Given the description of an element on the screen output the (x, y) to click on. 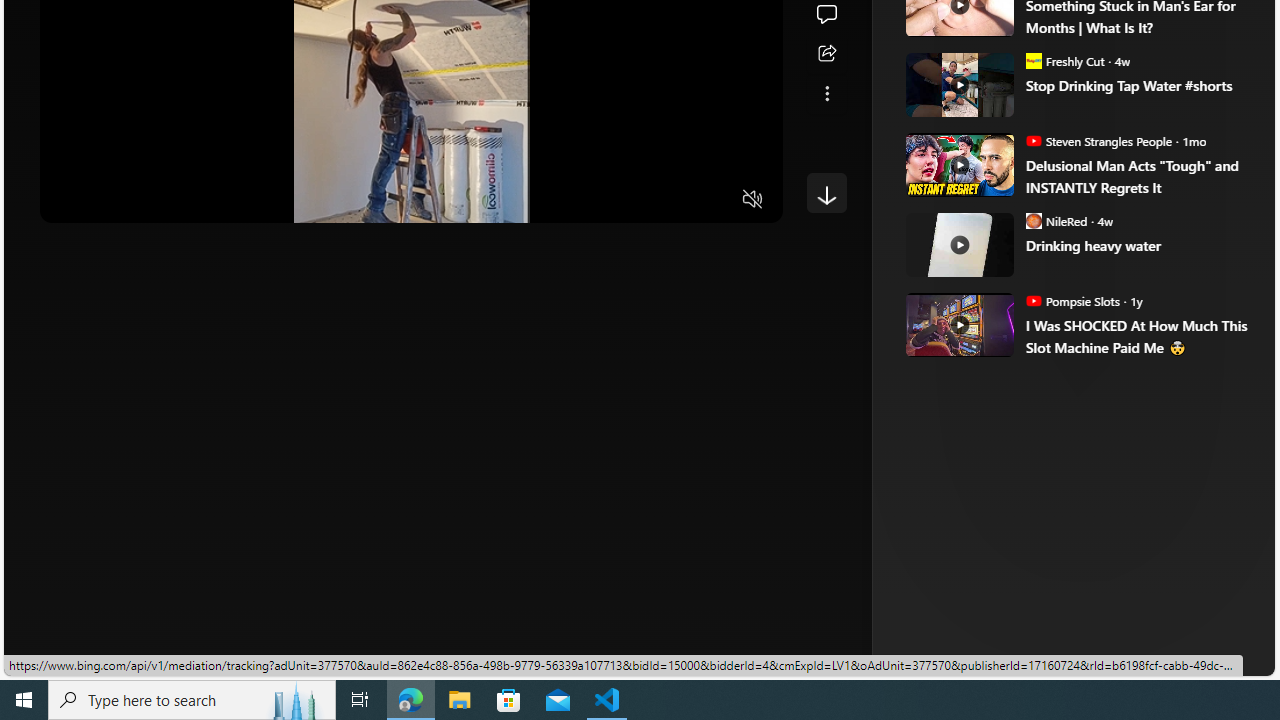
Share this story (826, 53)
Steven Strangles People (1033, 140)
Fullscreen (714, 200)
Quality Settings (634, 200)
Pompsie Slots Pompsie Slots (1072, 300)
Ad Choice (1212, 336)
